Given the description of an element on the screen output the (x, y) to click on. 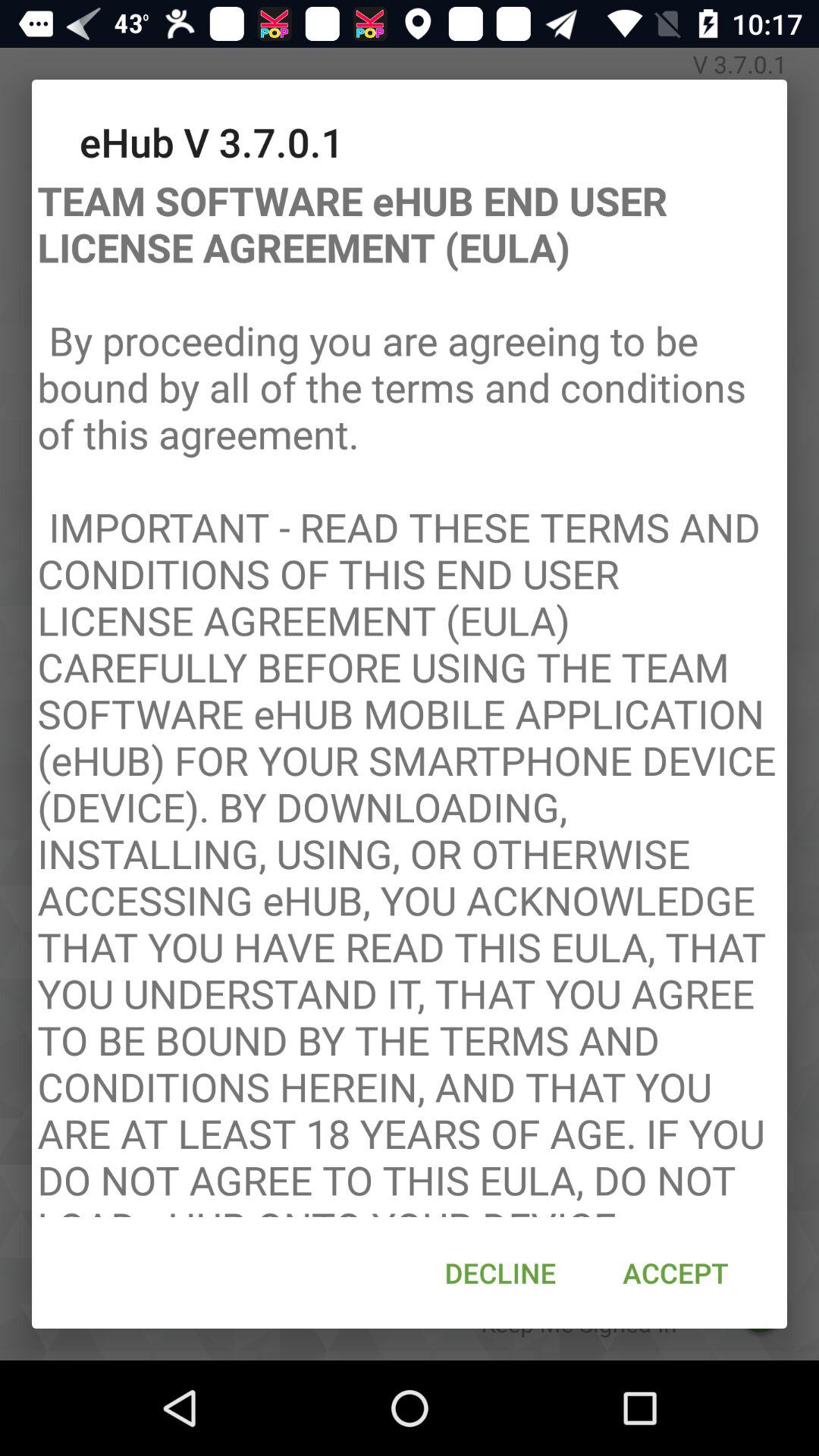
press the team software ehub item (409, 692)
